Given the description of an element on the screen output the (x, y) to click on. 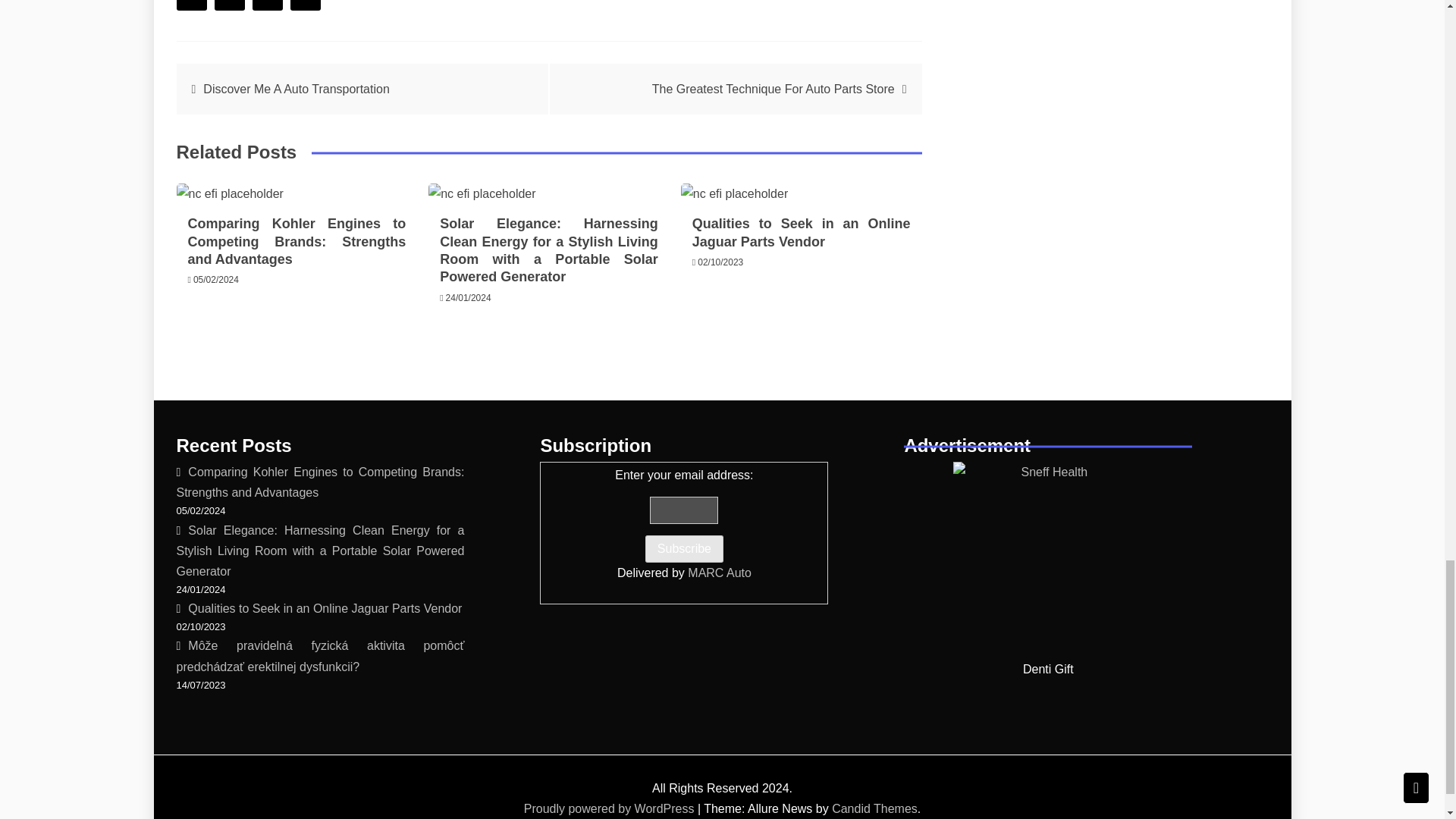
Subscribe (684, 548)
Twitter (229, 5)
The Greatest Technique For Auto Parts Store (773, 88)
Discover Me A Auto Transportation (295, 88)
Linkedin (304, 5)
Sneff Health (1047, 556)
